Given the description of an element on the screen output the (x, y) to click on. 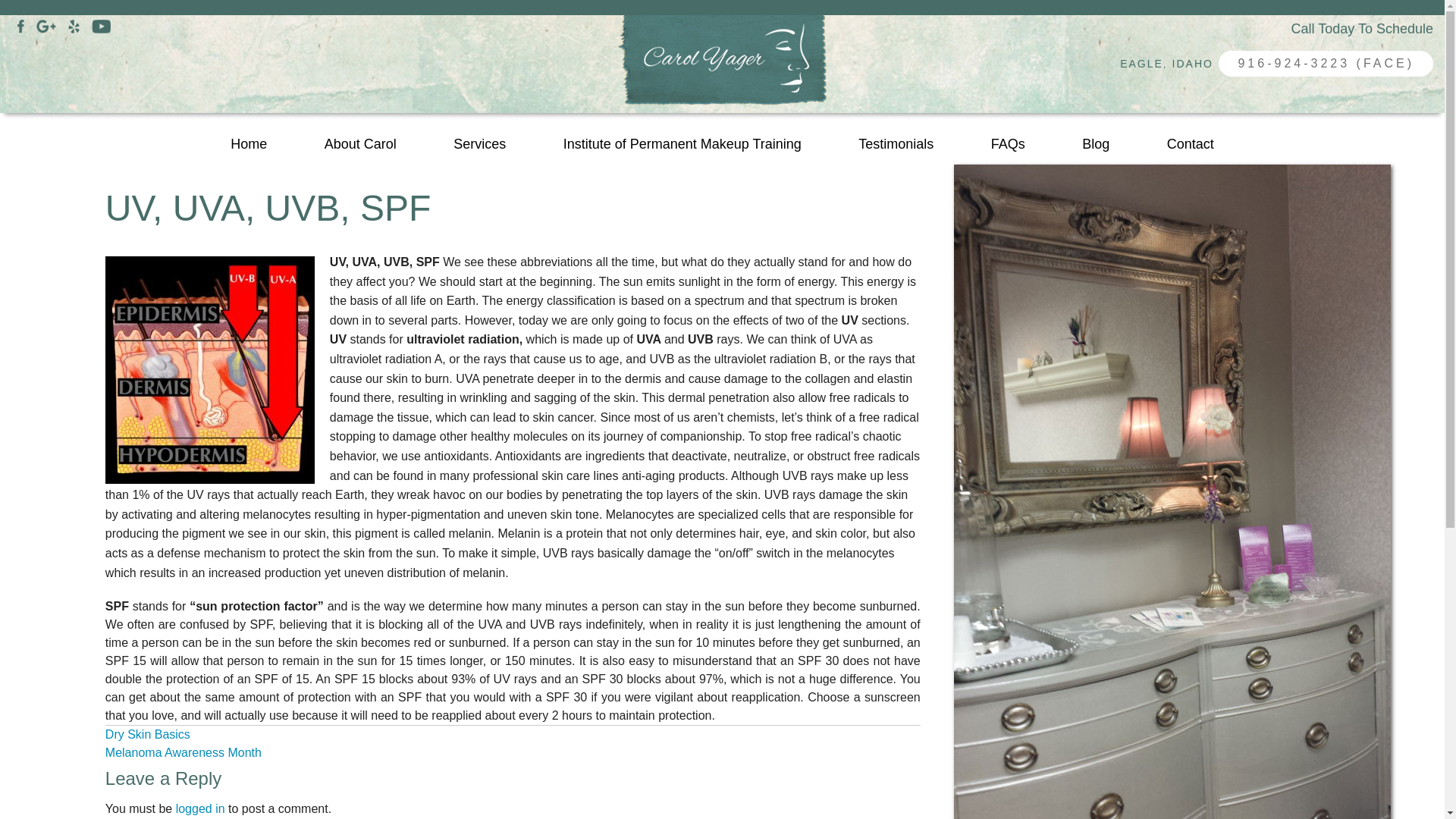
Google Plus (46, 24)
Contact (1190, 144)
YouTube (100, 24)
About Carol (360, 144)
FAQs (1007, 144)
Blog (1096, 144)
Testimonials (895, 144)
Services (479, 144)
Institute of Permanent Makeup Training (681, 144)
Eagle, Idaho: Carol Yager (1325, 63)
logged in (200, 808)
Home (248, 144)
Dry Skin Basics (147, 734)
Melanoma Awareness Month (183, 752)
